Given the description of an element on the screen output the (x, y) to click on. 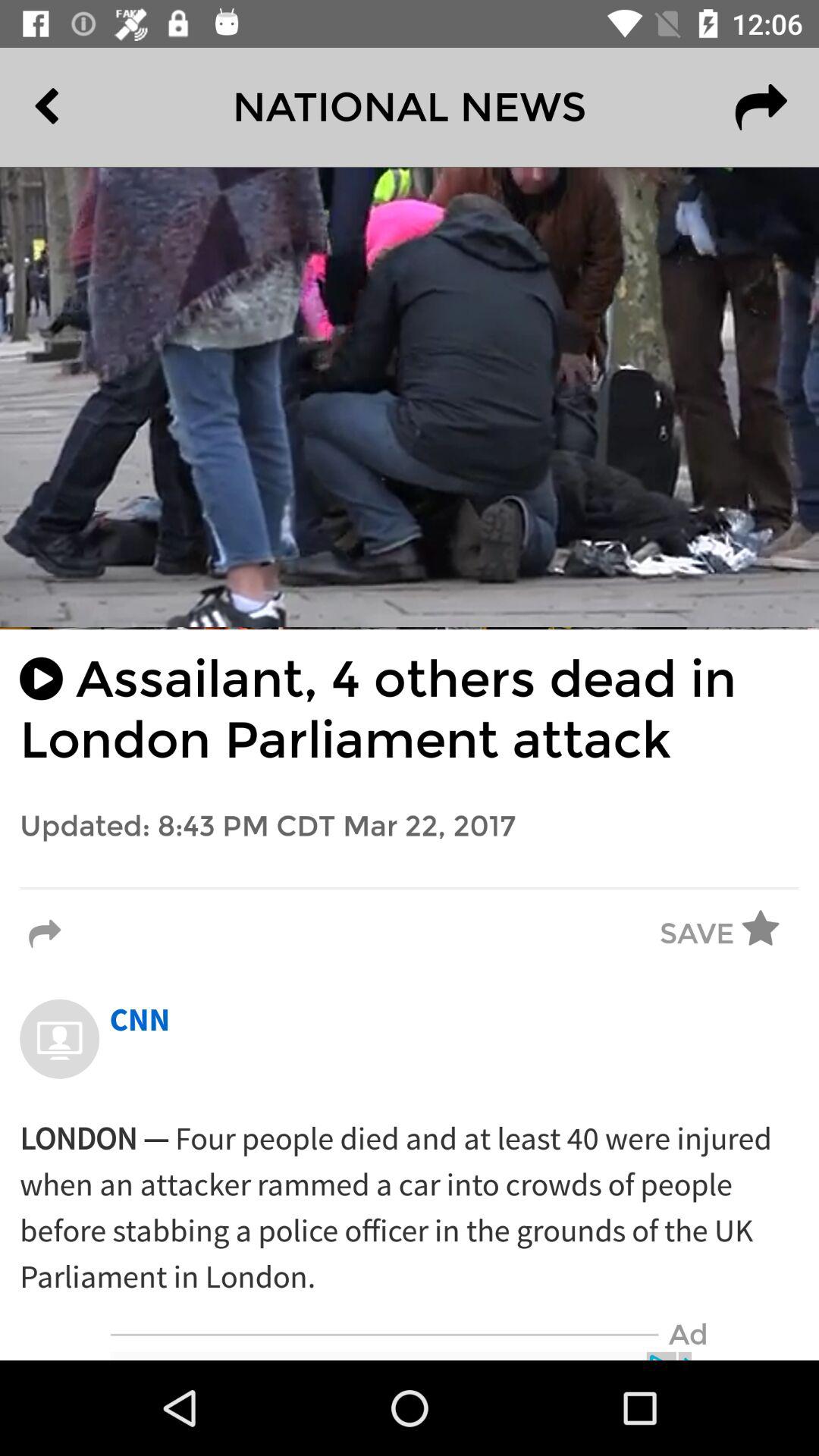
launch the icon at the top right corner (761, 107)
